Given the description of an element on the screen output the (x, y) to click on. 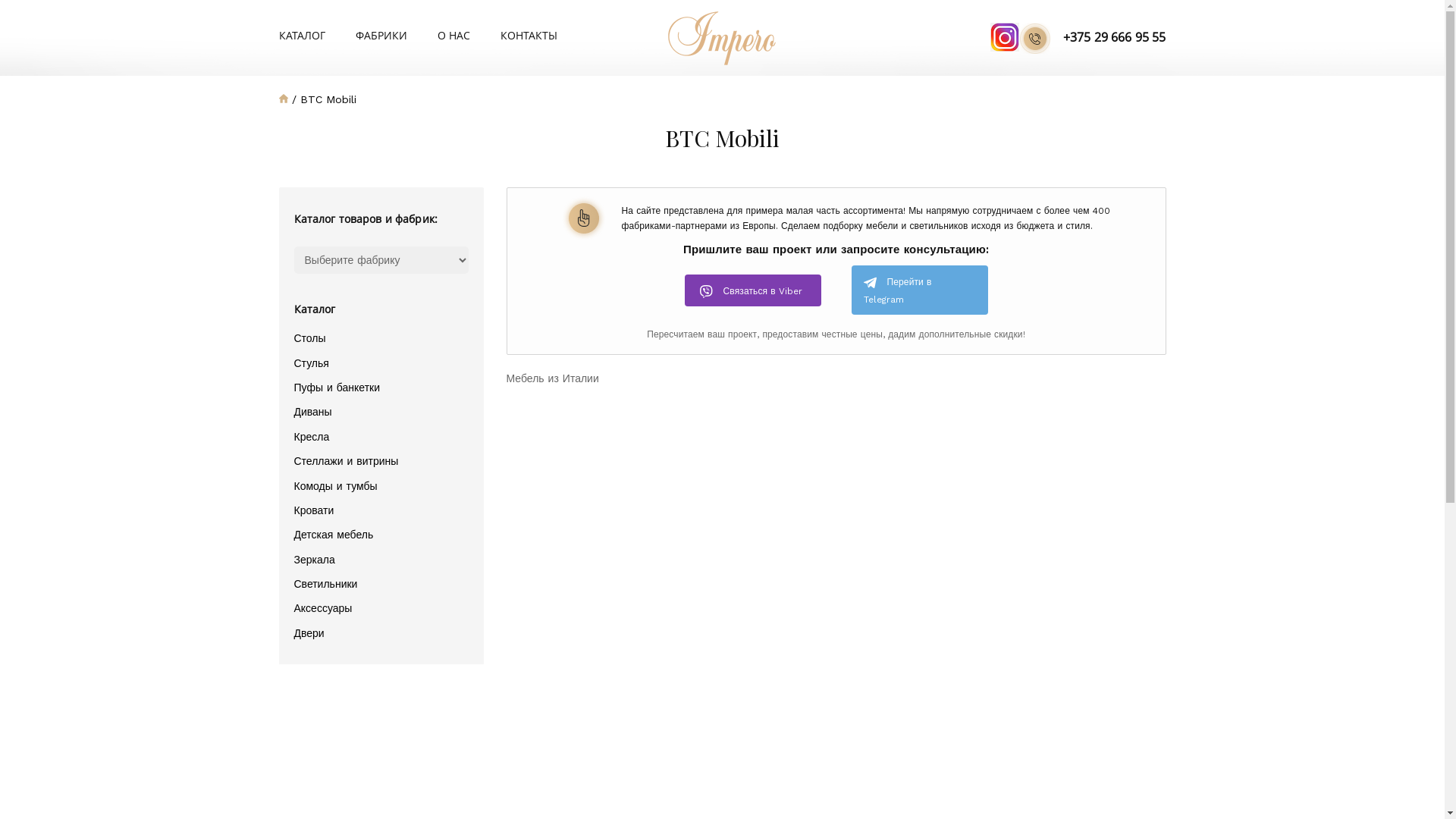
+375 29 666 95 55 Element type: text (1092, 37)
